Given the description of an element on the screen output the (x, y) to click on. 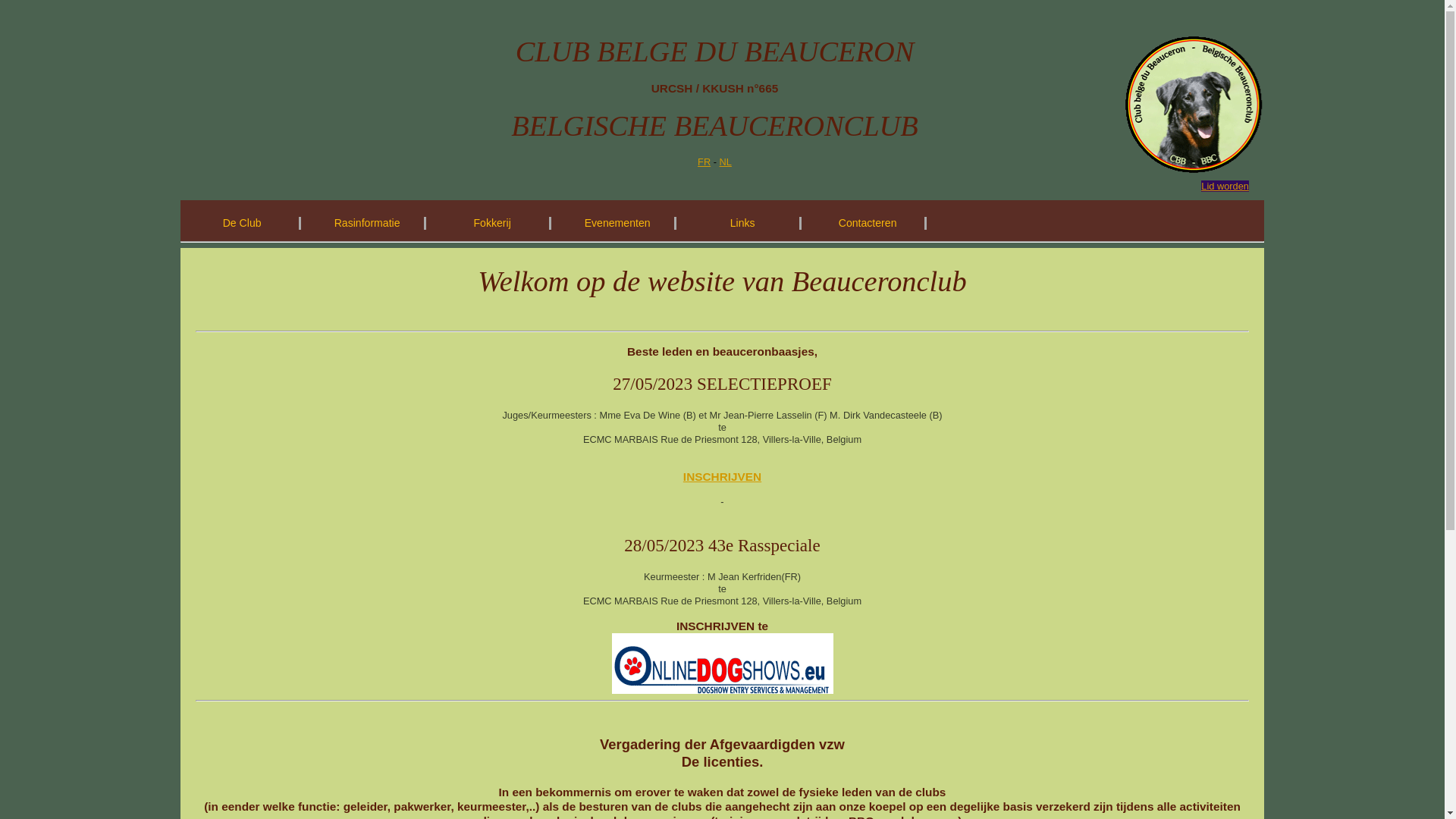
FR Element type: text (703, 161)
Lid worden Element type: text (1224, 185)
NL Element type: text (725, 161)
INSCHRIJVEN Element type: text (722, 476)
